Given the description of an element on the screen output the (x, y) to click on. 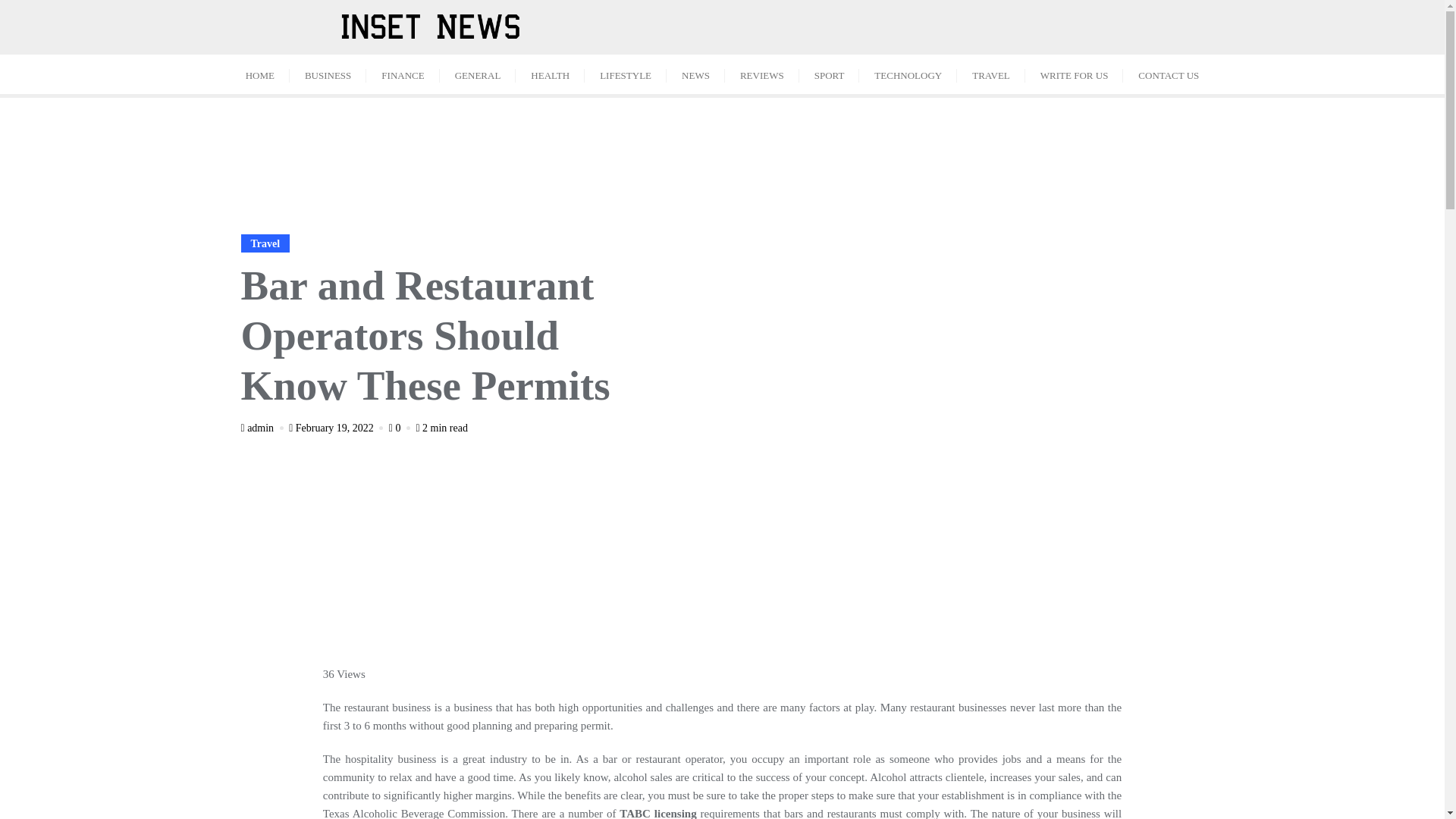
NEWS (695, 74)
HOME (259, 74)
FINANCE (402, 74)
GENERAL (477, 74)
HEALTH (550, 74)
Travel (265, 243)
SPORT (829, 74)
WRITE FOR US (1074, 74)
2 min read (440, 428)
LIFESTYLE (625, 74)
